Given the description of an element on the screen output the (x, y) to click on. 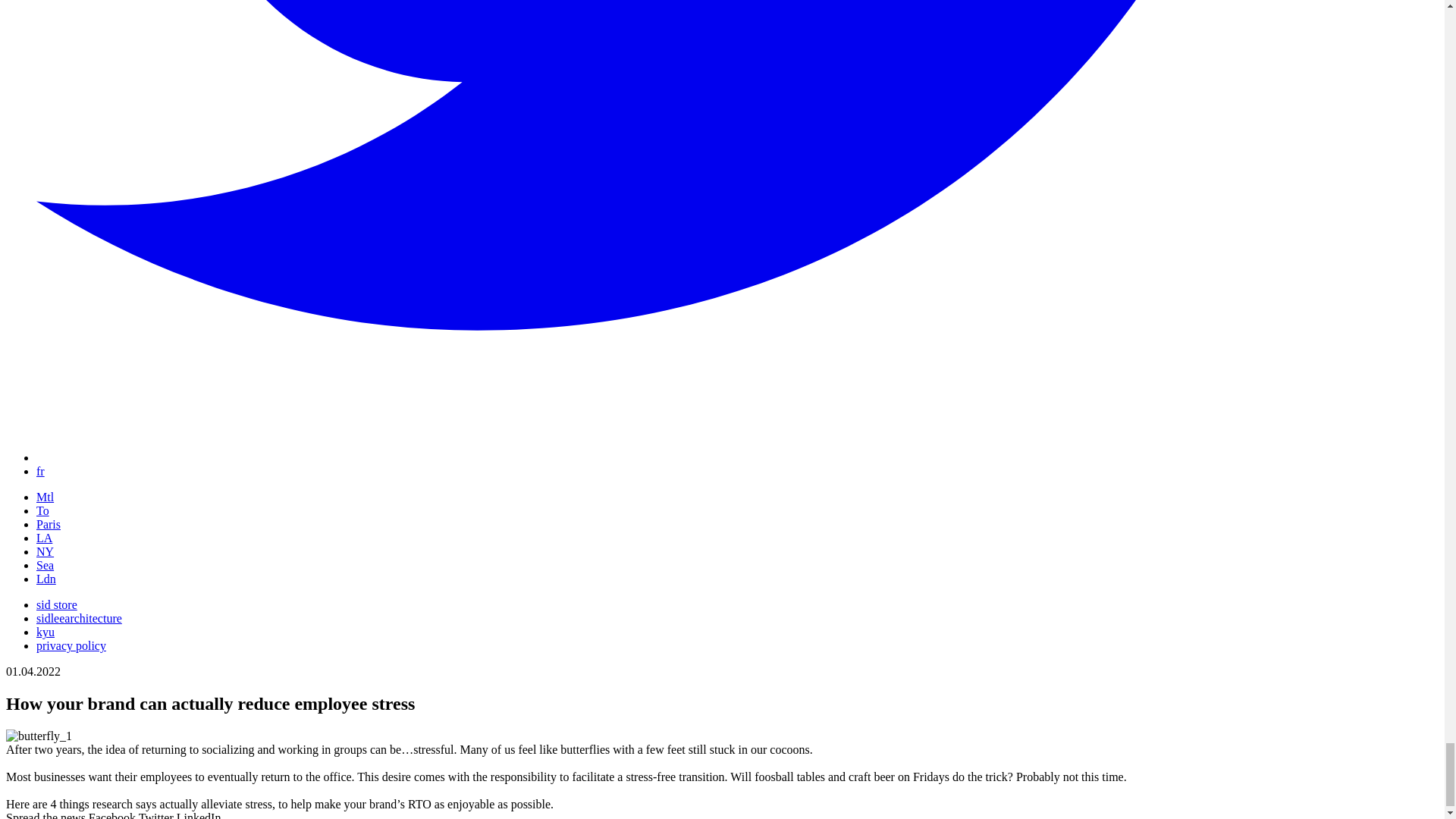
LA (44, 537)
Ldn (46, 578)
privacy policy (71, 645)
sidleearchitecture (79, 617)
Sea (44, 564)
NY (44, 551)
LA (44, 537)
NY (44, 551)
Paris (48, 523)
privacy policy (71, 645)
